Given the description of an element on the screen output the (x, y) to click on. 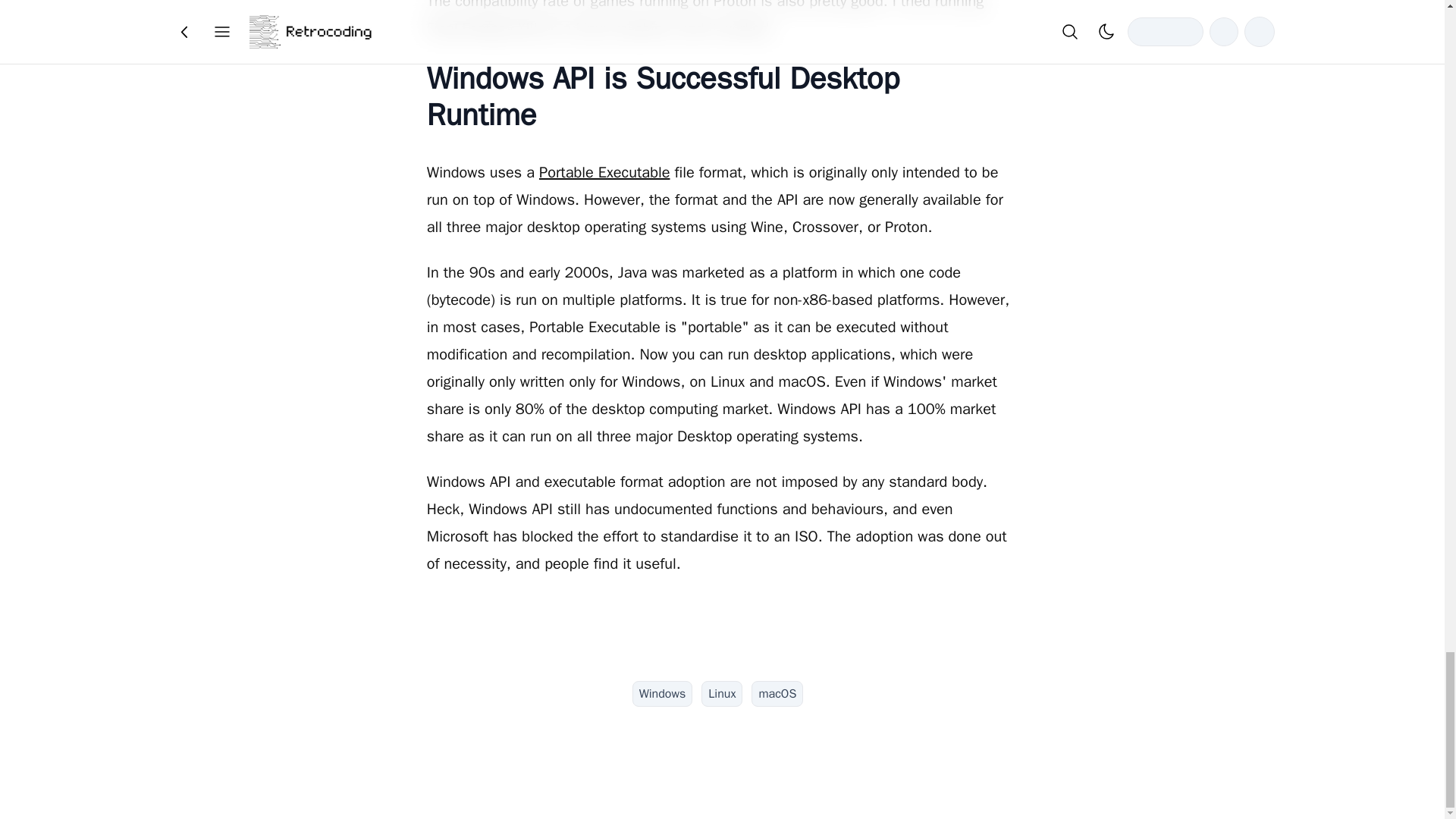
Linux (721, 693)
Portable Executable (603, 171)
macOS (777, 693)
Windows (662, 693)
